Given the description of an element on the screen output the (x, y) to click on. 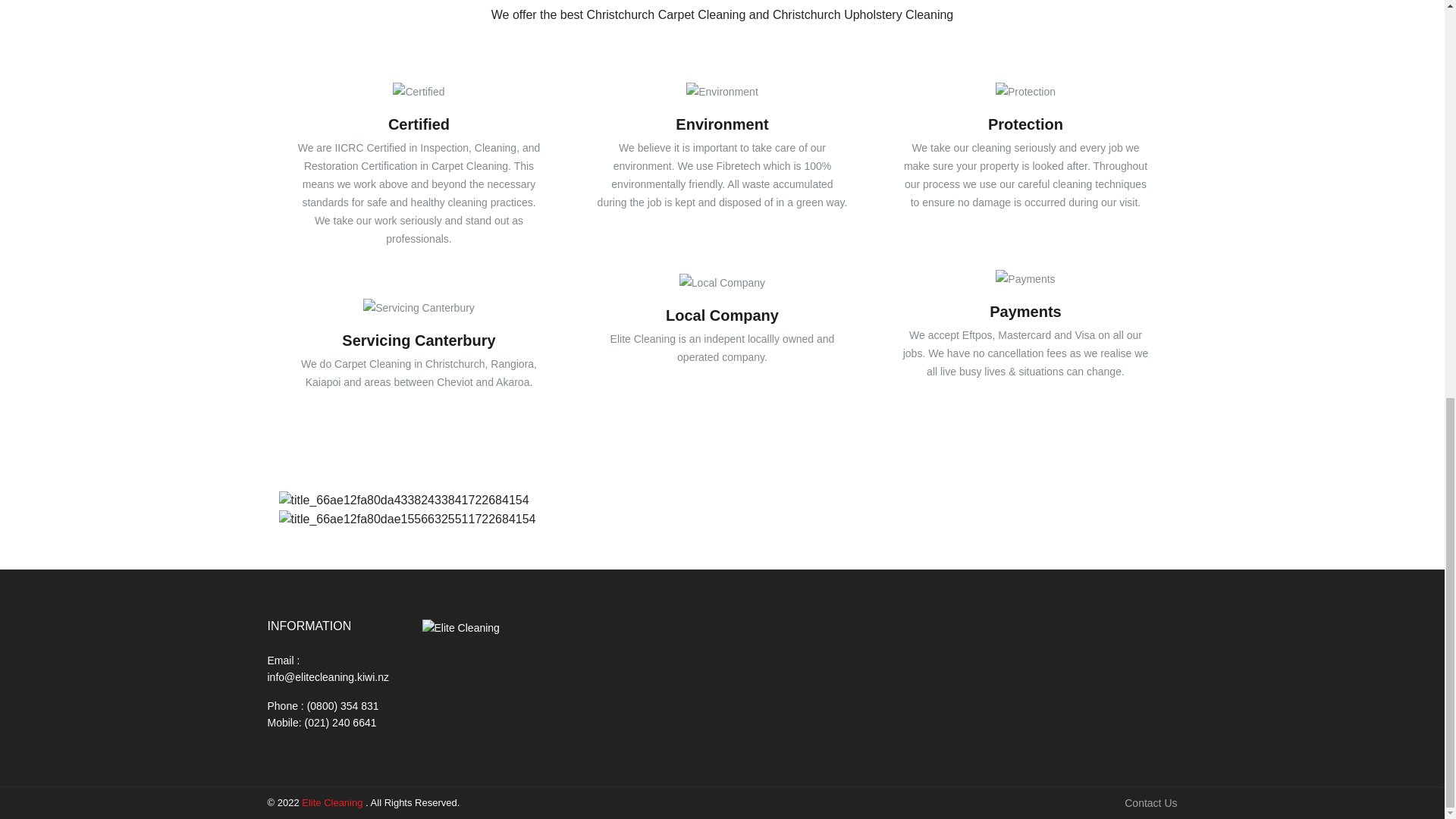
Elite Cleaning (460, 627)
Elite Cleaning (331, 802)
Contact Us (1150, 803)
